Given the description of an element on the screen output the (x, y) to click on. 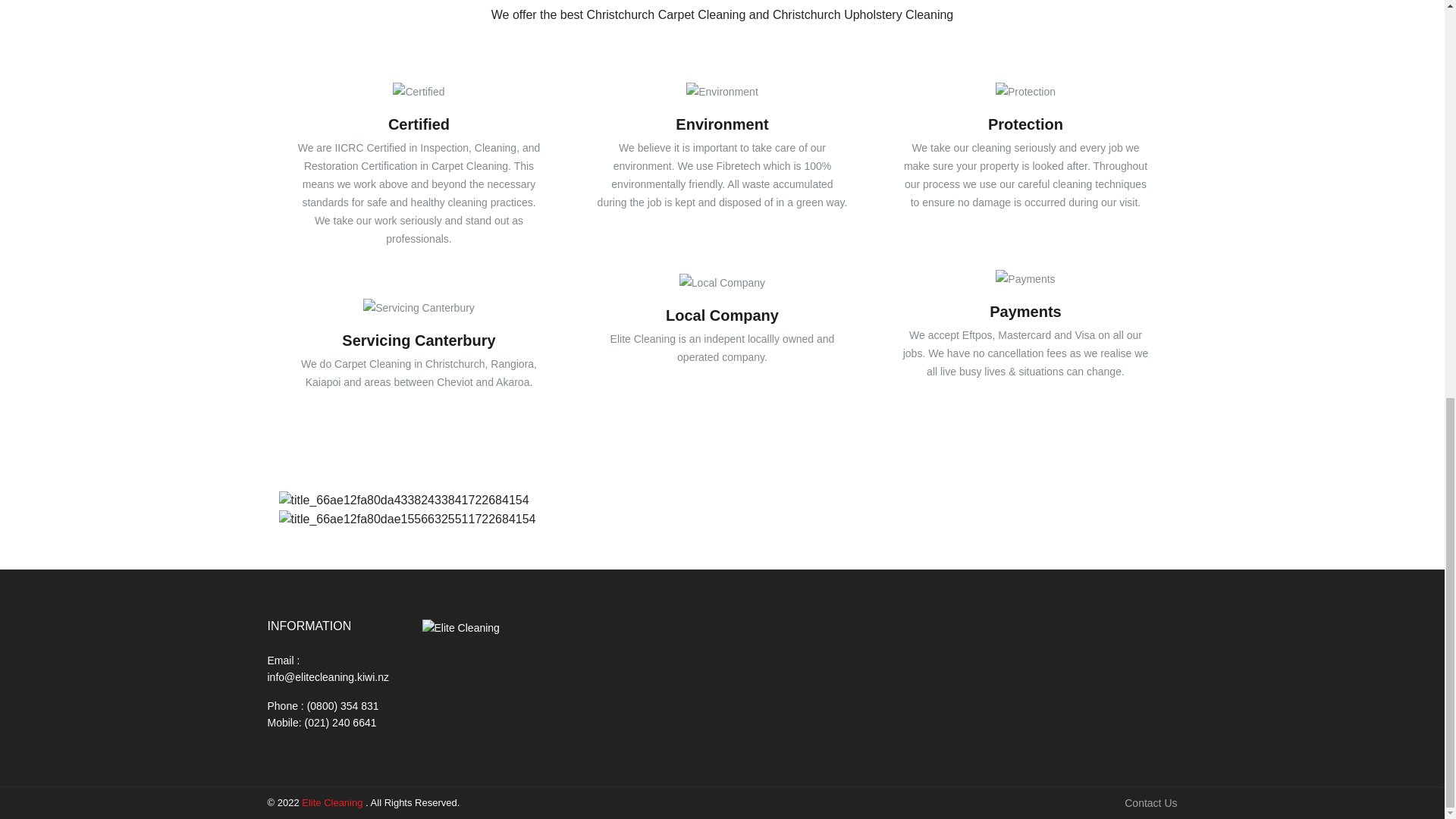
Elite Cleaning (460, 627)
Elite Cleaning (331, 802)
Contact Us (1150, 803)
